Given the description of an element on the screen output the (x, y) to click on. 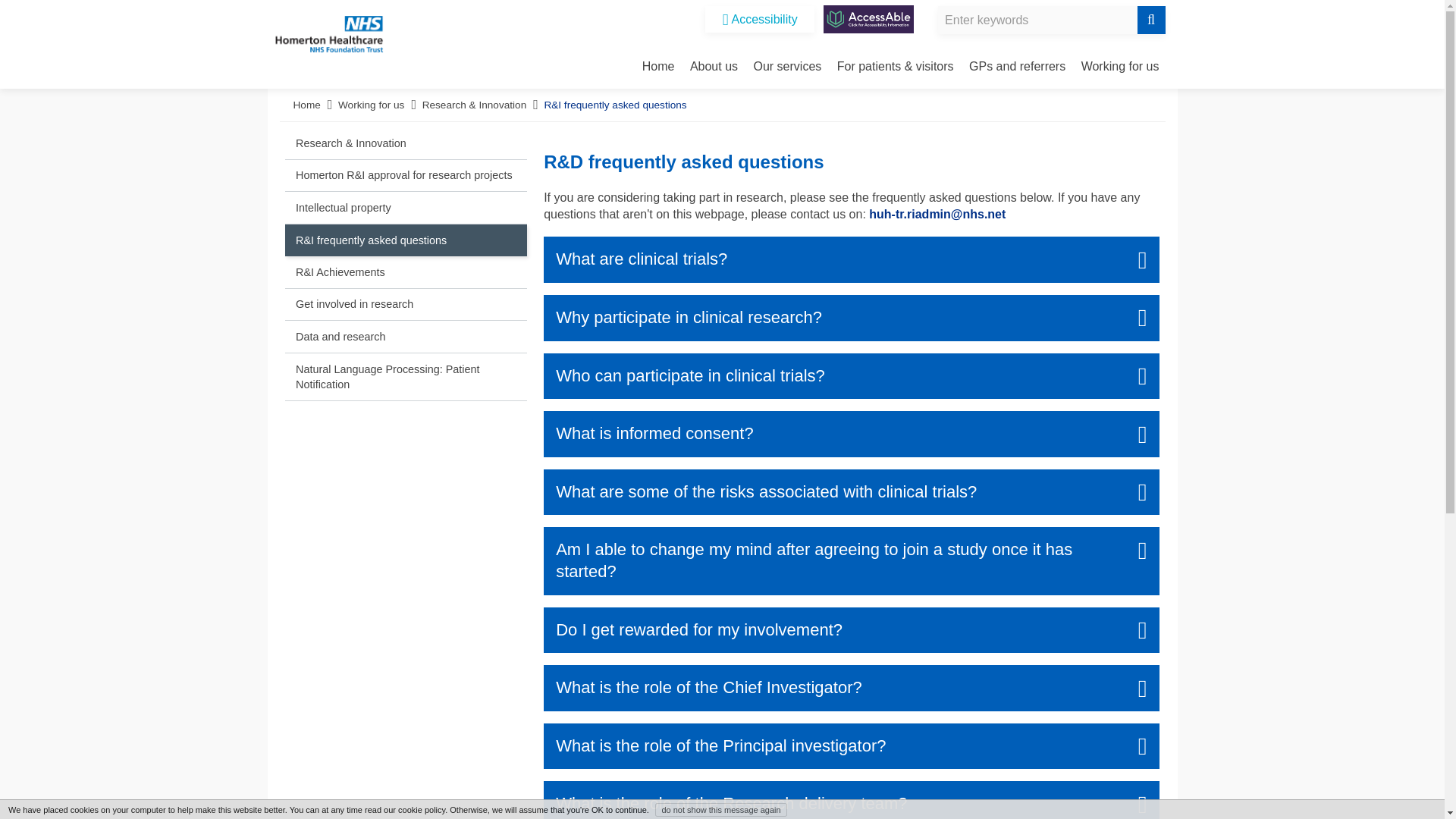
About us (714, 65)
Search (1151, 19)
Our services (788, 65)
Accessibility (758, 18)
Search (1151, 19)
search (1050, 19)
Home (658, 65)
do not show this message again (720, 809)
